Given the description of an element on the screen output the (x, y) to click on. 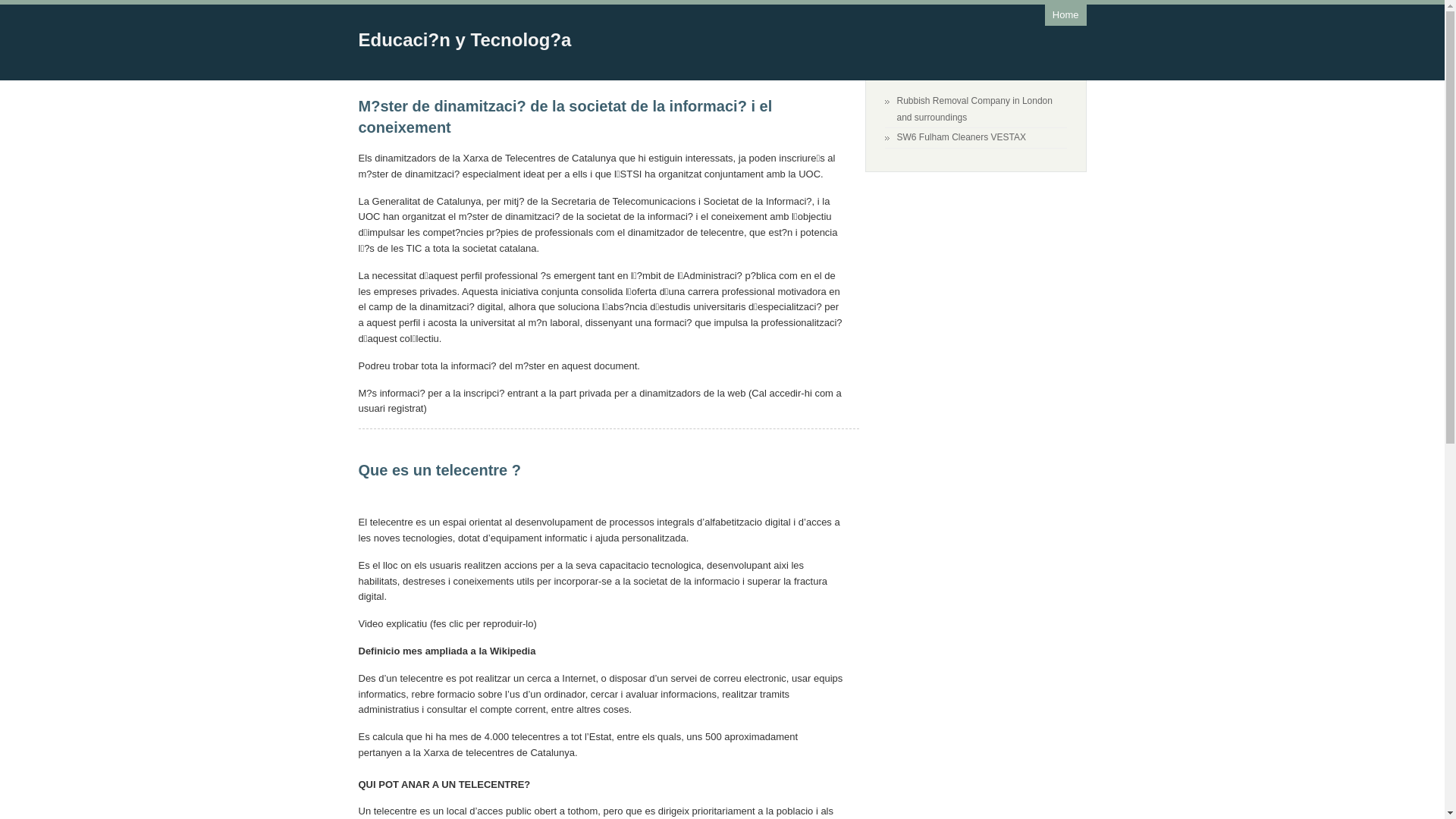
SW6 Fulham Cleaners VESTAX Element type: text (961, 136)
Rubbish Removal Company in London and surroundings Element type: text (973, 108)
Educaci?n y Tecnolog?a Element type: text (464, 39)
Que es un telecentre ? Element type: text (438, 469)
Home Element type: text (1065, 14)
